Given the description of an element on the screen output the (x, y) to click on. 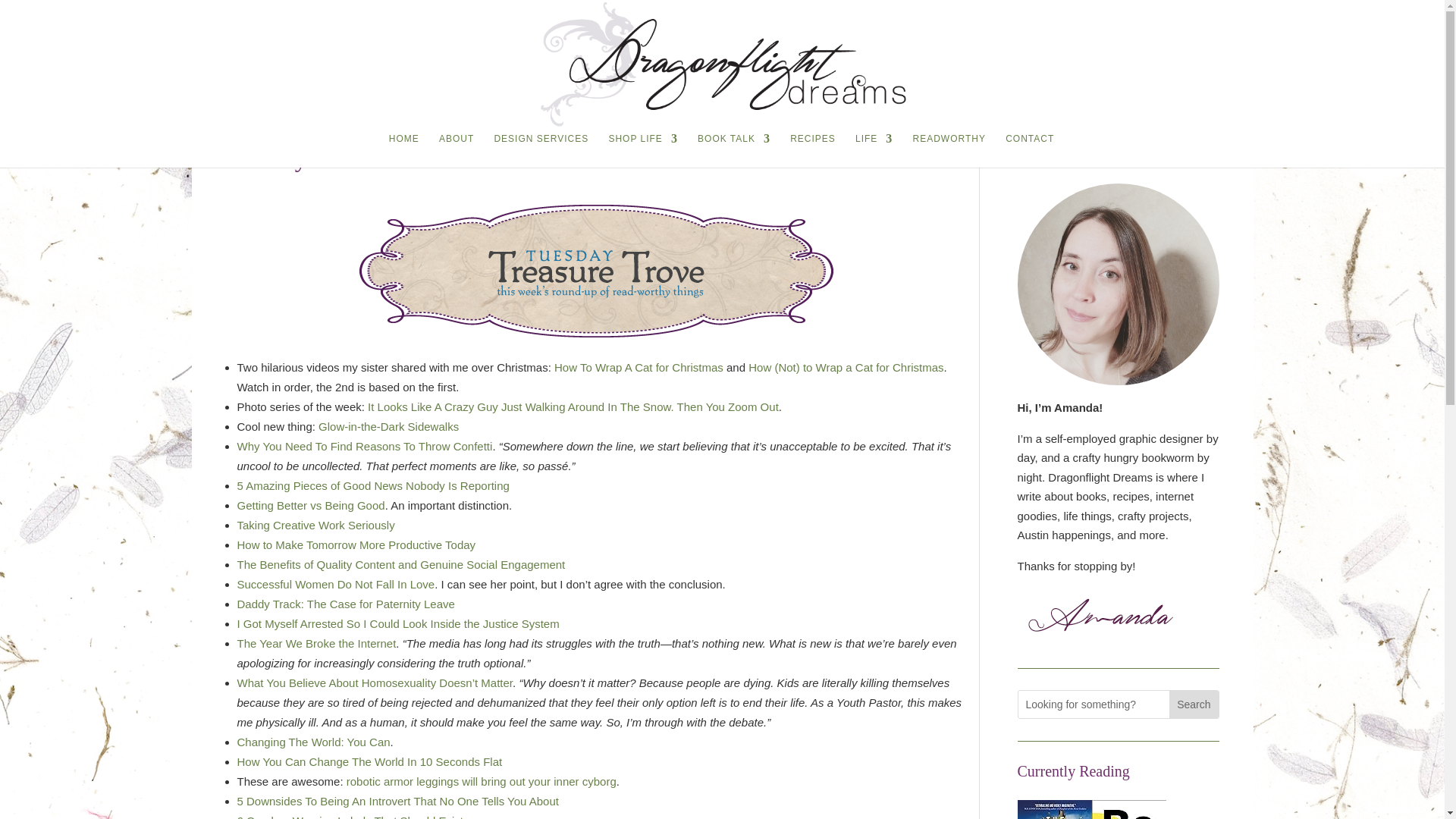
Why You Need To Find Reasons To Throw Confetti (363, 445)
Getting Better vs Being Good (309, 504)
Daddy Track: The Case for Paternity Leave (344, 603)
BOOK TALK (733, 150)
RECIPES (812, 150)
How to Make Tomorrow More Productive Today (355, 544)
robotic armor leggings will bring out your inner cyborg (480, 780)
READWORTHY (948, 150)
DESIGN SERVICES (540, 150)
